Given the description of an element on the screen output the (x, y) to click on. 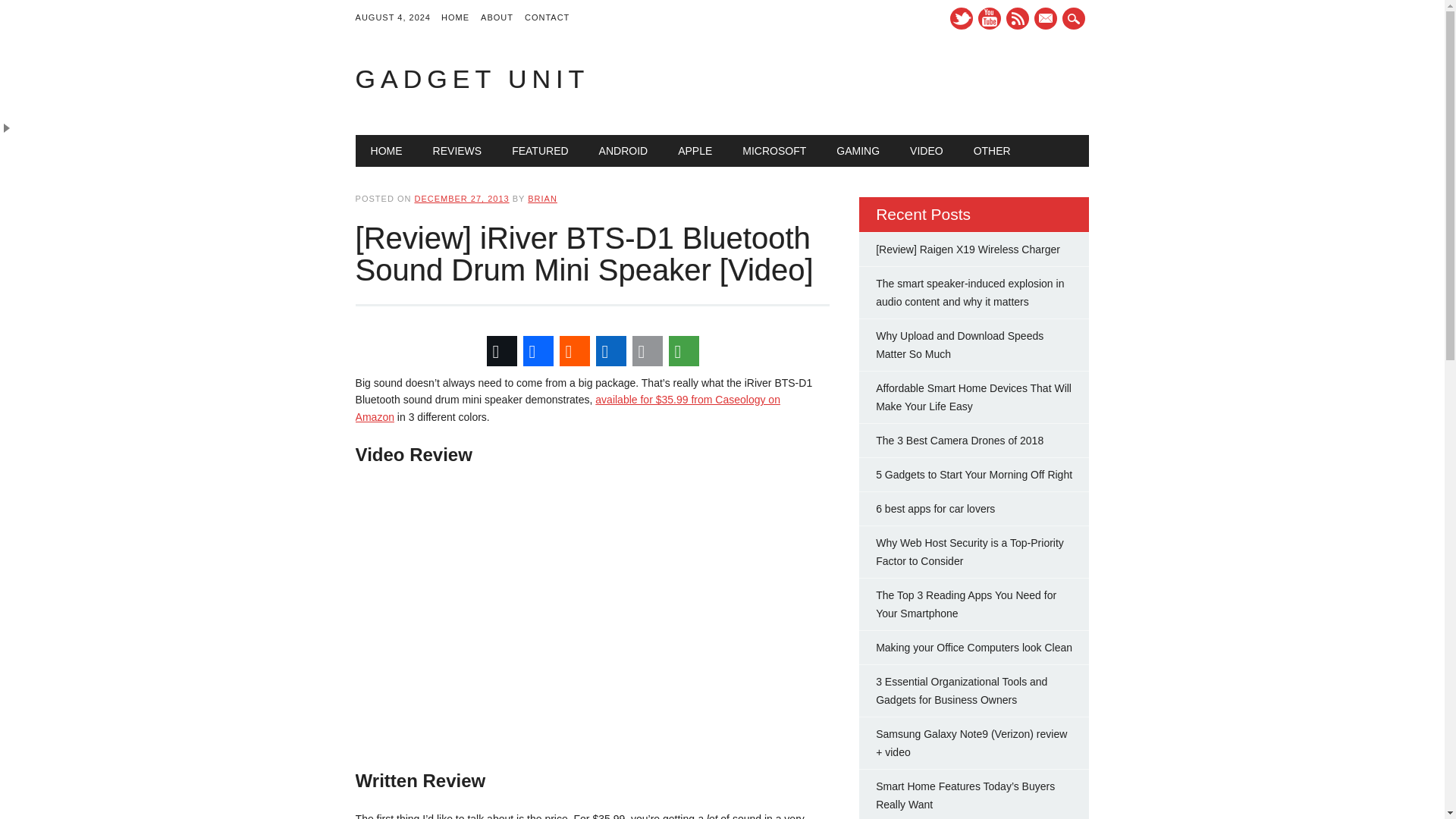
RSS (1017, 18)
Email This (646, 350)
LinkedIn (610, 350)
HOME (460, 17)
CONTACT (552, 17)
DECEMBER 27, 2013 (460, 198)
Reddit (574, 350)
Youtube (989, 18)
ANDROID (623, 151)
GAMING (858, 151)
FEATURED (539, 151)
OTHER (992, 151)
VIDEO (926, 151)
MICROSOFT (773, 151)
Gadget Unit (472, 78)
